Given the description of an element on the screen output the (x, y) to click on. 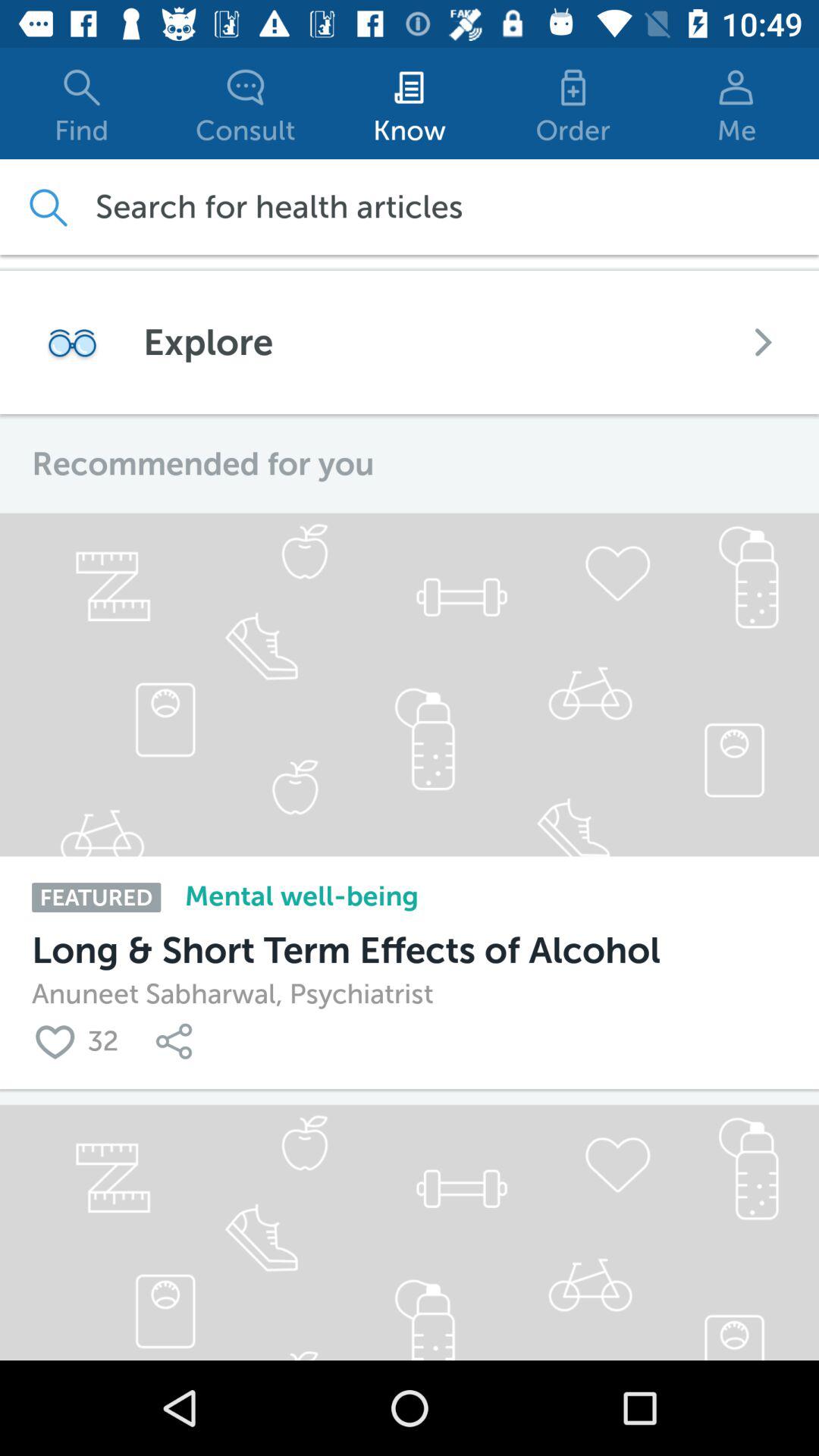
search (47, 206)
